Given the description of an element on the screen output the (x, y) to click on. 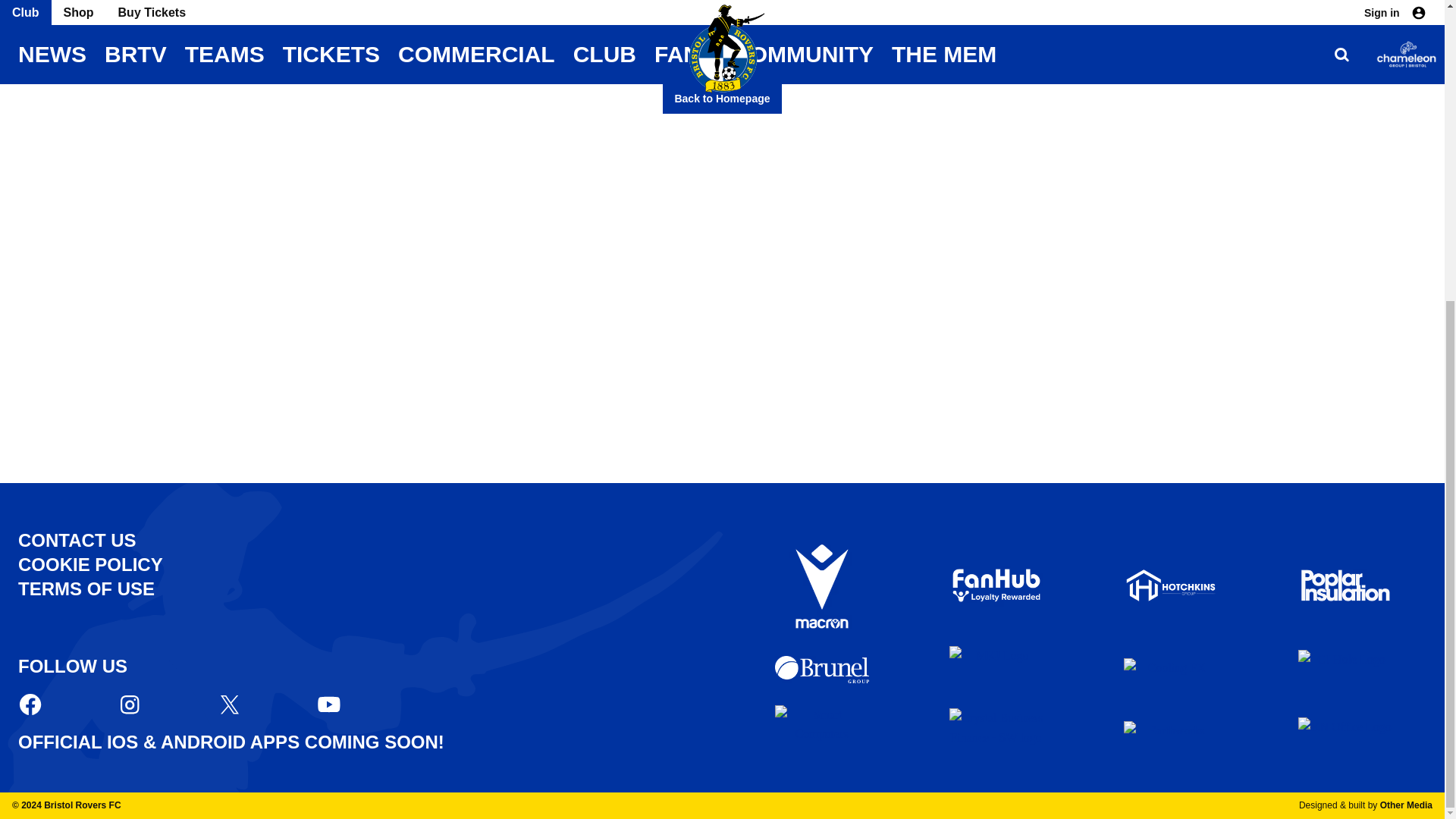
Smart Computers (821, 727)
Earth Works (1170, 727)
Cooling FX (1170, 669)
KN Office (1344, 727)
CJ Hole (1344, 669)
Hotchkins Group (1170, 585)
MKG Group (996, 669)
Poplar Insulation (1344, 585)
Crystal Business Finance (996, 727)
Brunel (821, 669)
